Given the description of an element on the screen output the (x, y) to click on. 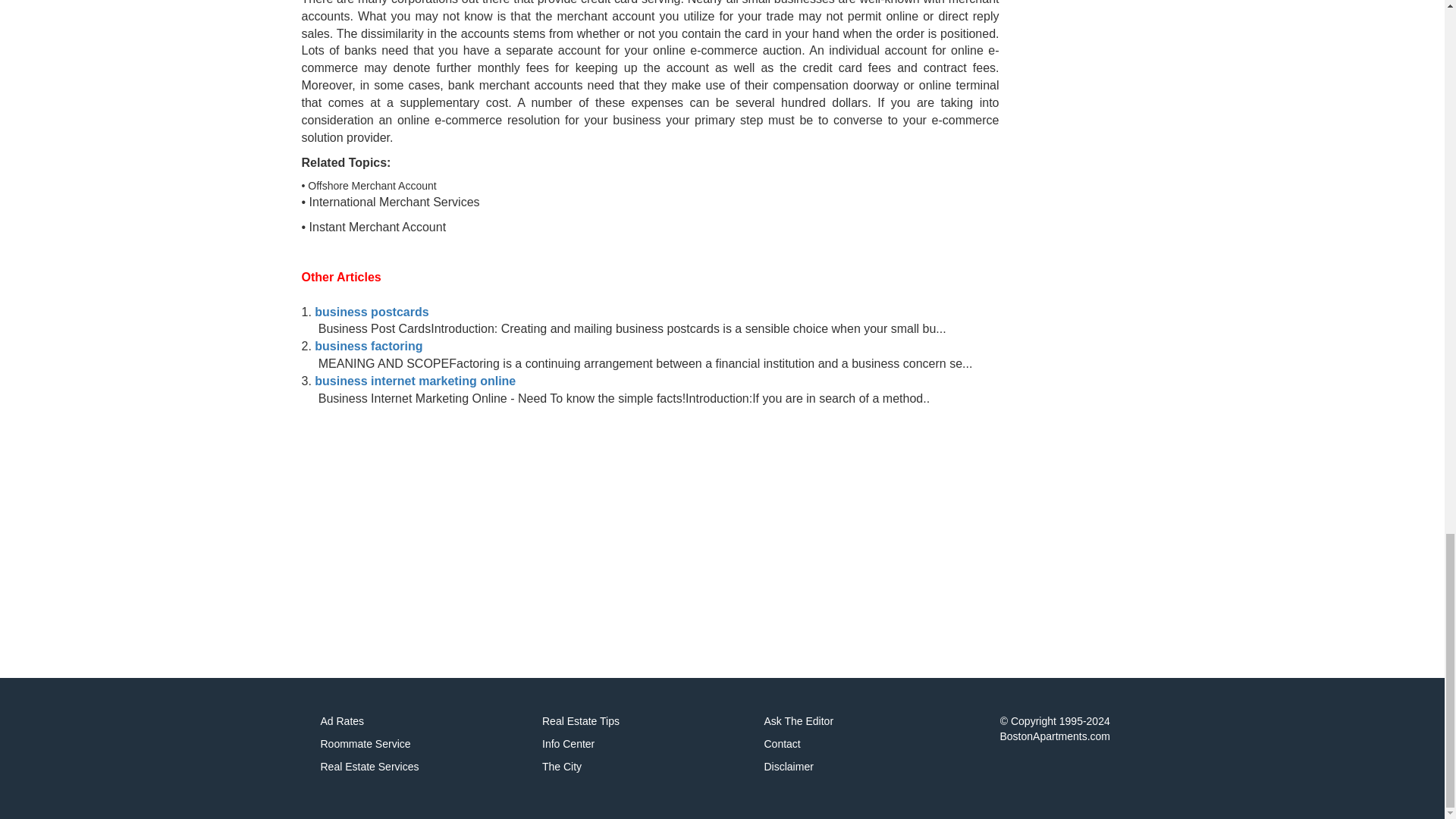
Contact (782, 743)
Real Estate Services (369, 766)
The City (560, 766)
Ask The Editor (799, 720)
Info Center (567, 743)
business factoring (368, 345)
business postcards (371, 311)
Ad Rates (342, 720)
Roommate Service (365, 743)
Real Estate Tips (580, 720)
